Given the description of an element on the screen output the (x, y) to click on. 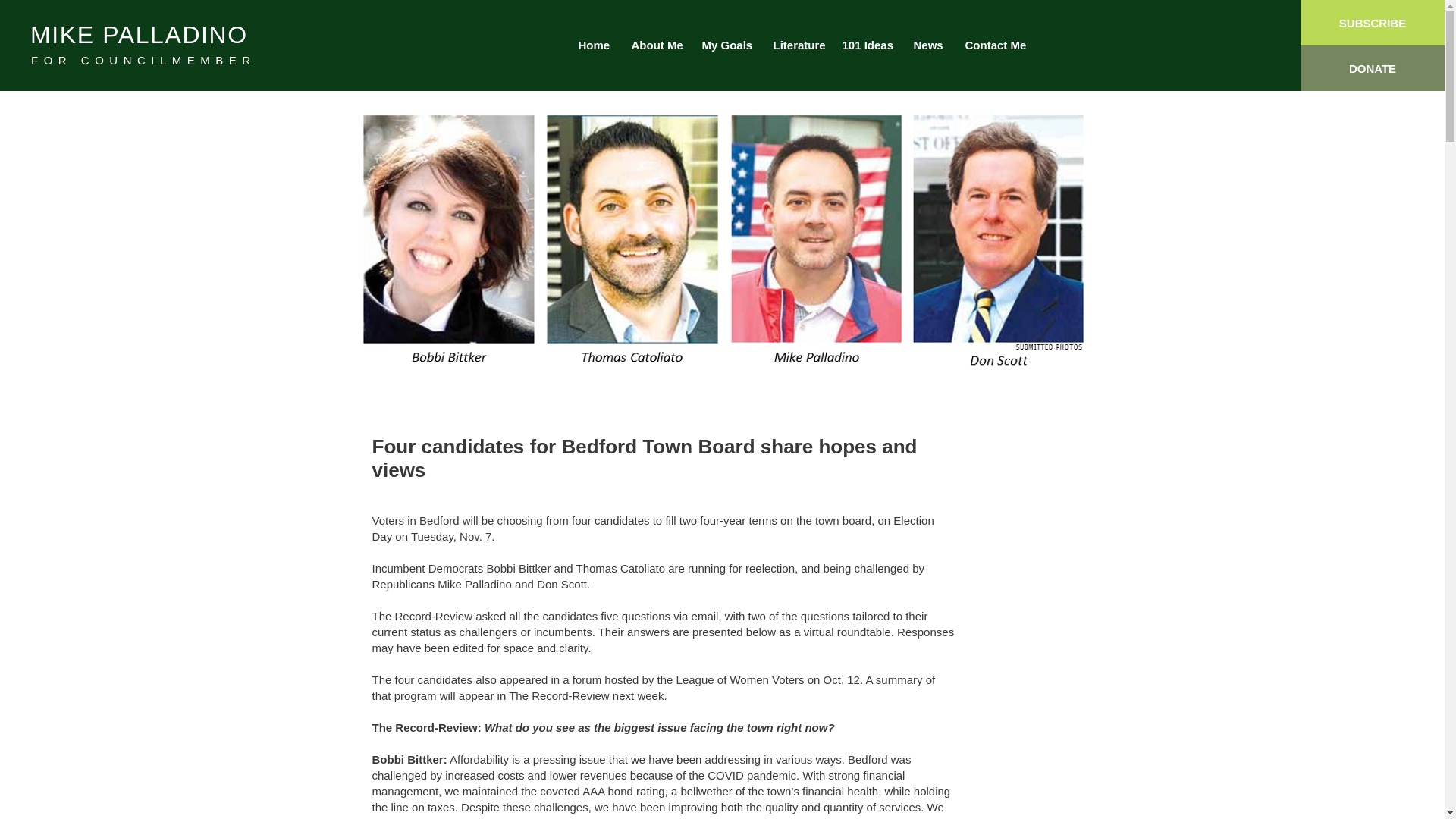
FOR COUNCILMEMBER (143, 60)
News (927, 45)
MIKE PALLADINO (138, 34)
About Me (655, 45)
Literature (795, 45)
101 Ideas (866, 45)
My Goals (725, 45)
Contact Me (993, 45)
Home (593, 45)
